Given the description of an element on the screen output the (x, y) to click on. 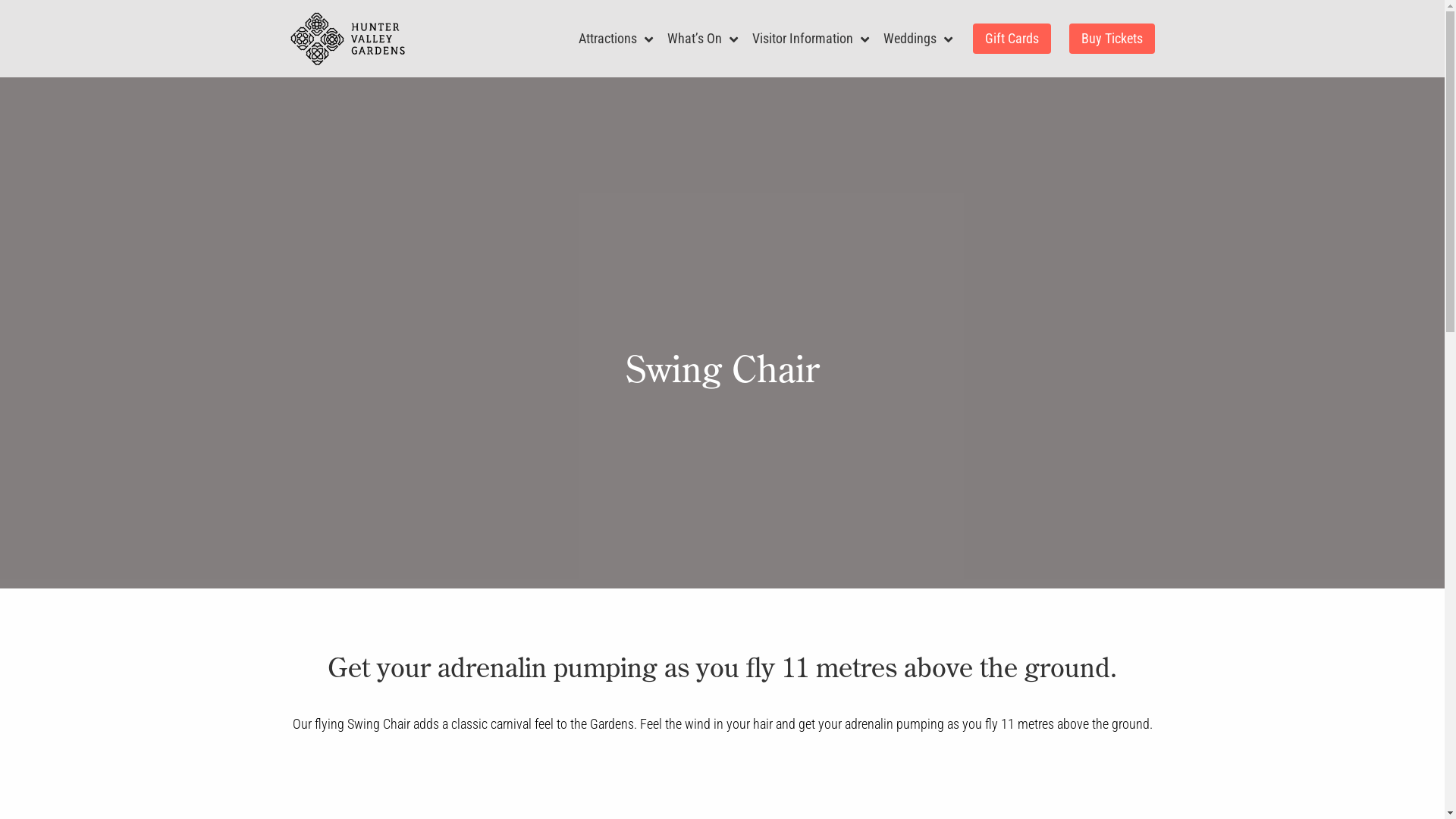
Visitor Information Element type: text (805, 38)
Buy Tickets Element type: text (1111, 38)
Weddings Element type: text (911, 38)
Attractions Element type: text (609, 38)
Gift Cards Element type: text (1011, 38)
